Given the description of an element on the screen output the (x, y) to click on. 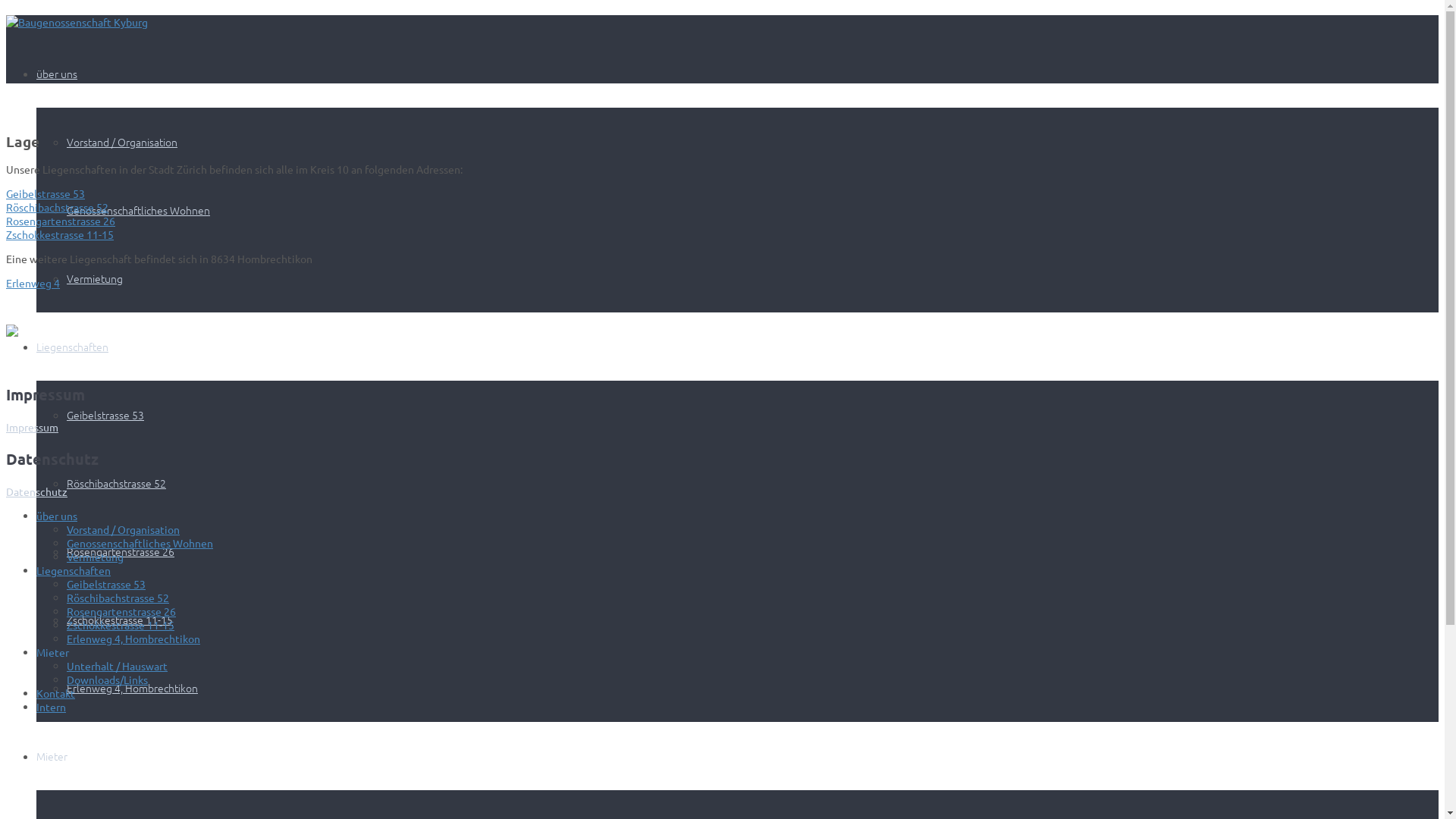
Liegenschaften Element type: text (73, 570)
Zschokkestrasse 11-15 Element type: text (59, 234)
Rosengartenstrasse 26 Element type: text (120, 611)
Liegenschaften Element type: text (72, 346)
Geibelstrasse 53 Element type: text (105, 583)
Intern Element type: text (50, 706)
Zschokkestrasse 11-15 Element type: text (119, 619)
Vermietung Element type: text (94, 277)
Rosengartenstrasse 26 Element type: text (120, 550)
Erlenweg 4 Element type: text (32, 282)
Rosengartenstrasse 26 Element type: text (60, 220)
Geibelstrasse 53 Element type: text (105, 414)
Impressum Element type: text (32, 426)
Genossenschaftliches Wohnen Element type: text (139, 542)
Vermietung Element type: text (94, 556)
Unterhalt / Hauswart Element type: text (116, 665)
Kontakt Element type: text (55, 692)
Vorstand / Organisation Element type: text (121, 141)
Erlenweg 4, Hombrechtikon Element type: text (133, 638)
Vorstand / Organisation Element type: text (122, 529)
Geibelstrasse 53 Element type: text (45, 193)
Genossenschaftliches Wohnen Element type: text (138, 209)
Mieter Element type: text (52, 651)
Downloads/Links Element type: text (106, 679)
Erlenweg 4, Hombrechtikon Element type: text (131, 687)
Mieter Element type: text (51, 755)
Datenschutz Element type: text (36, 491)
Zschokkestrasse 11-15 Element type: text (120, 624)
